Given the description of an element on the screen output the (x, y) to click on. 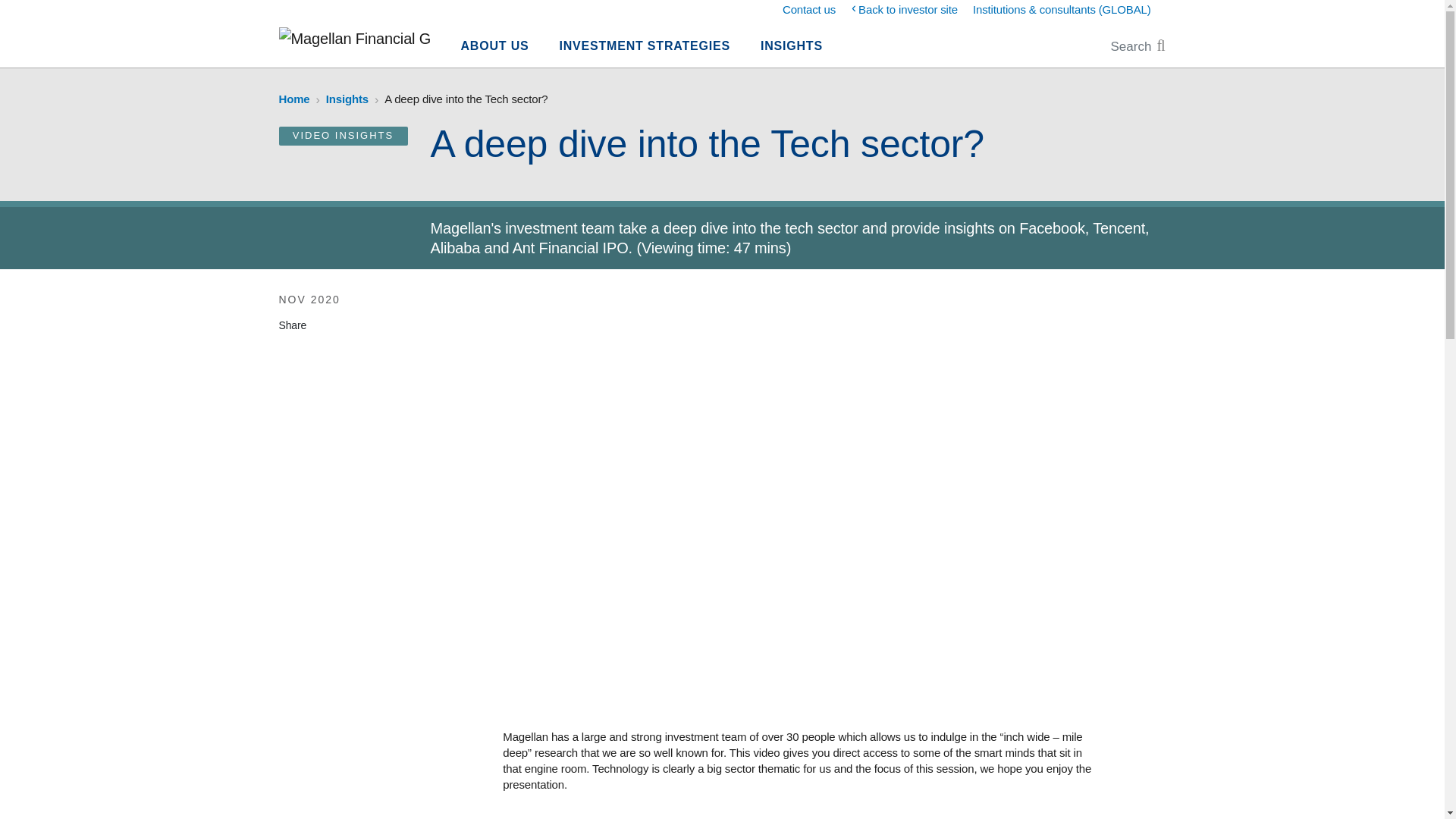
Back to investor site Element type: text (907, 9)
INVESTMENT STRATEGIES Element type: text (643, 47)
Institutions & consultants (GLOBAL) Element type: text (1061, 9)
Insights Element type: text (347, 98)
Home Element type: text (294, 98)
INSIGHTS Element type: text (791, 47)
ABOUT US Element type: text (495, 47)
Contact us Element type: text (808, 9)
